Given the description of an element on the screen output the (x, y) to click on. 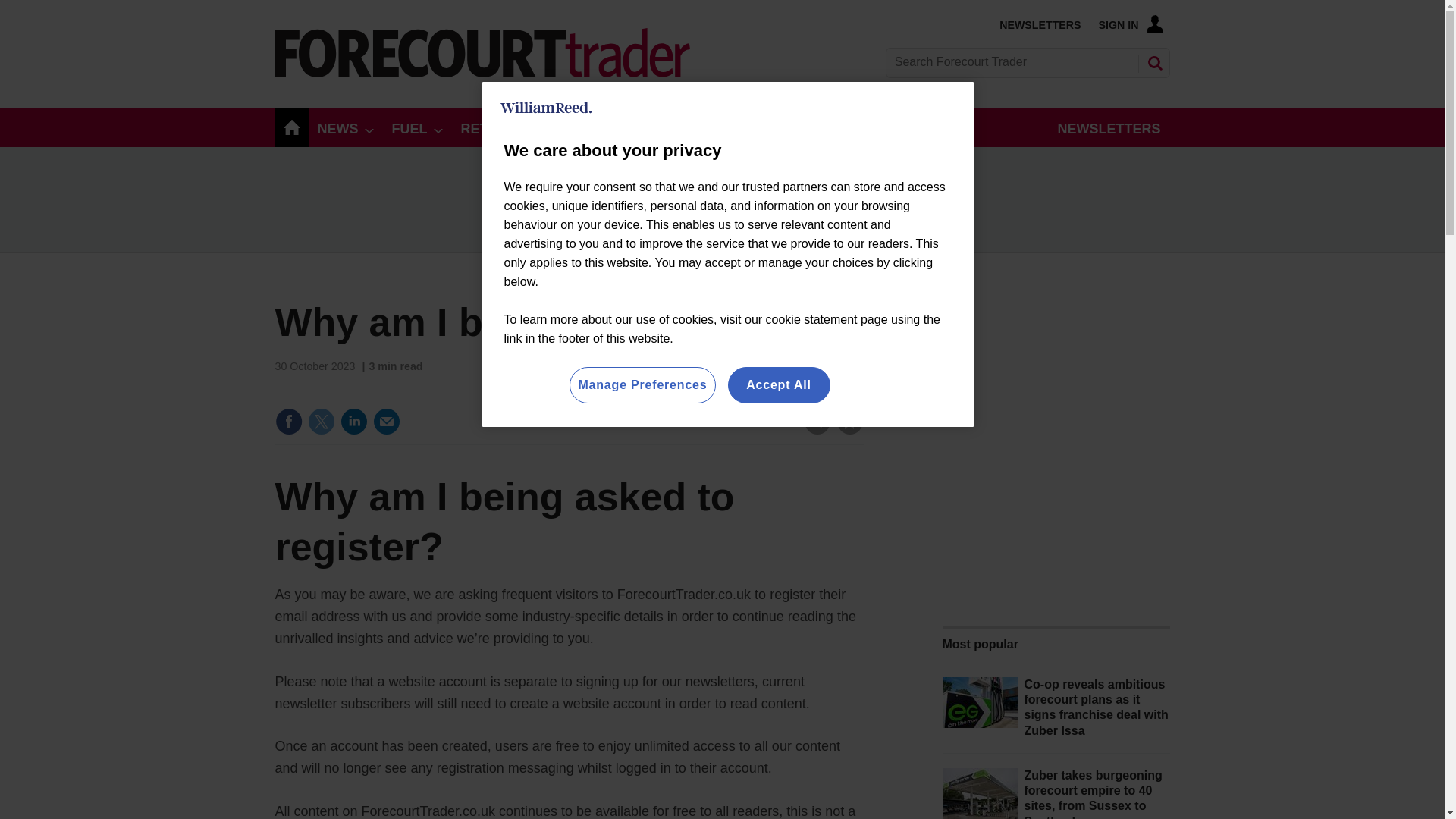
No comments (812, 430)
NEWSLETTERS (1039, 24)
SIGN IN (1130, 24)
Share this on Facebook (288, 420)
Share this on Linked in (352, 420)
Site name (482, 72)
3rd party ad content (1055, 493)
Share this on Twitter (320, 420)
3rd party ad content (722, 199)
Email this article (386, 420)
